Given the description of an element on the screen output the (x, y) to click on. 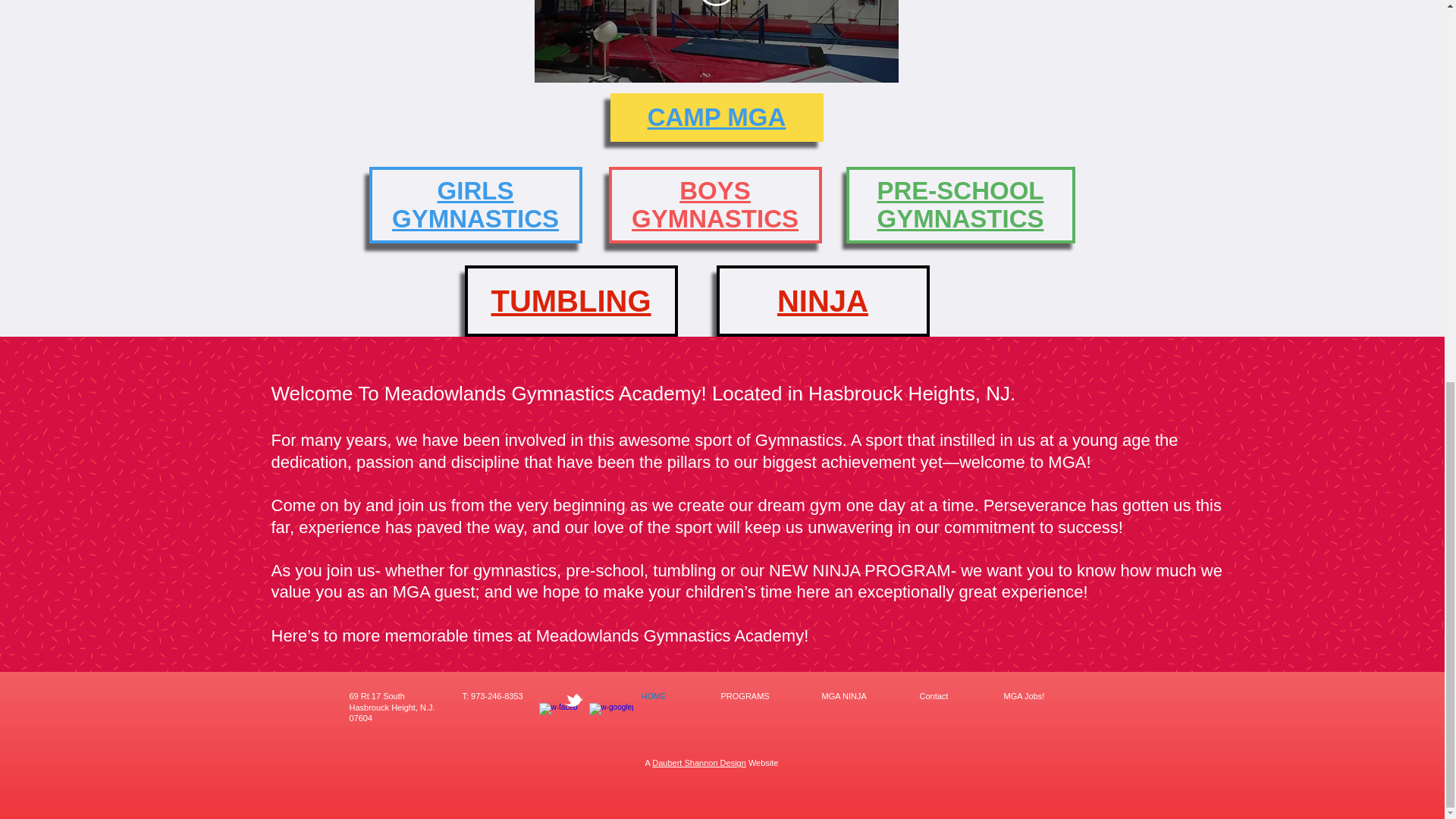
TUMBLING (714, 203)
CAMP MGA (570, 300)
NINJA (716, 117)
